Given the description of an element on the screen output the (x, y) to click on. 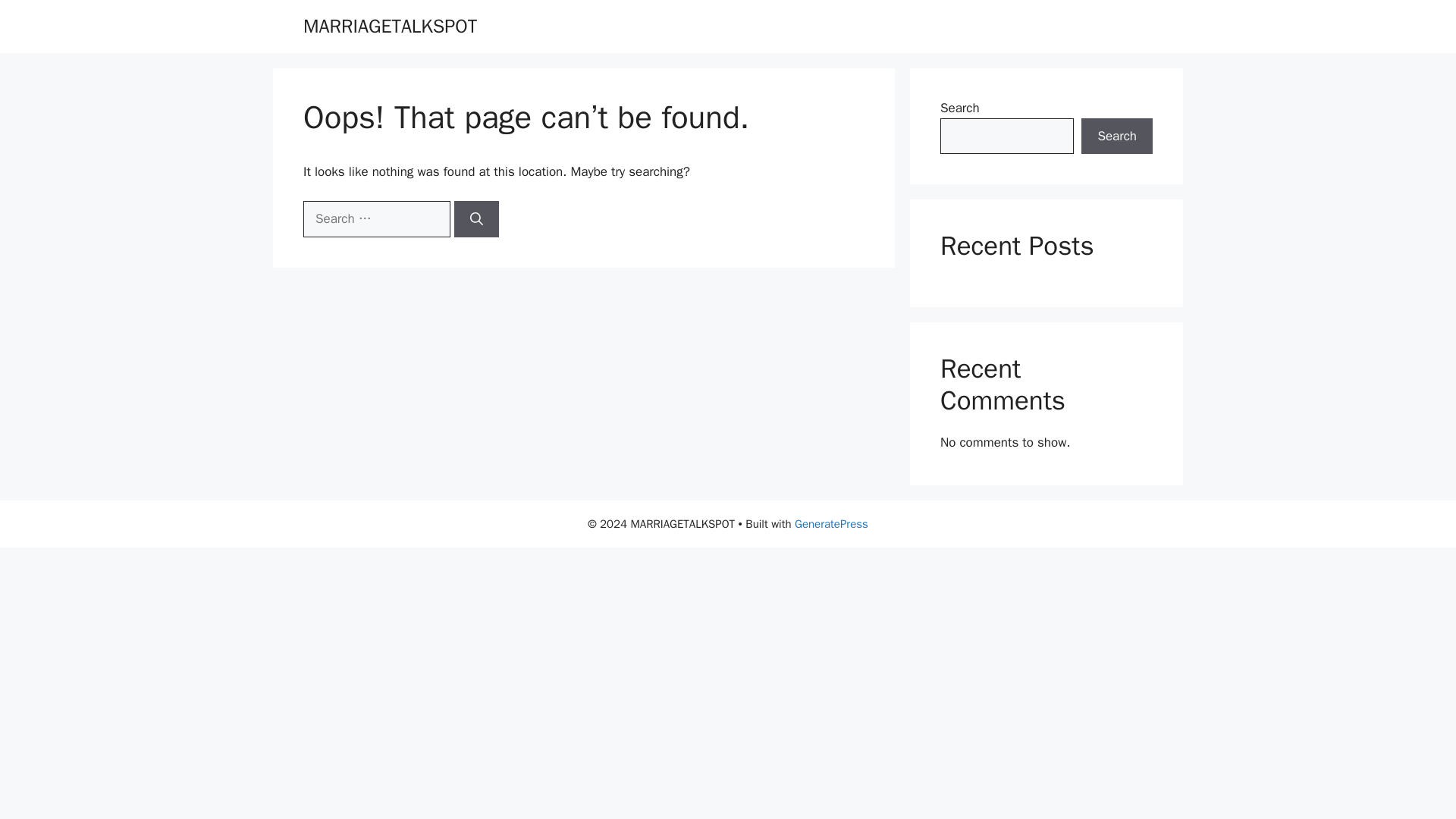
MARRIAGETALKSPOT (389, 25)
Search (1117, 135)
Search for: (375, 218)
GeneratePress (830, 523)
